Given the description of an element on the screen output the (x, y) to click on. 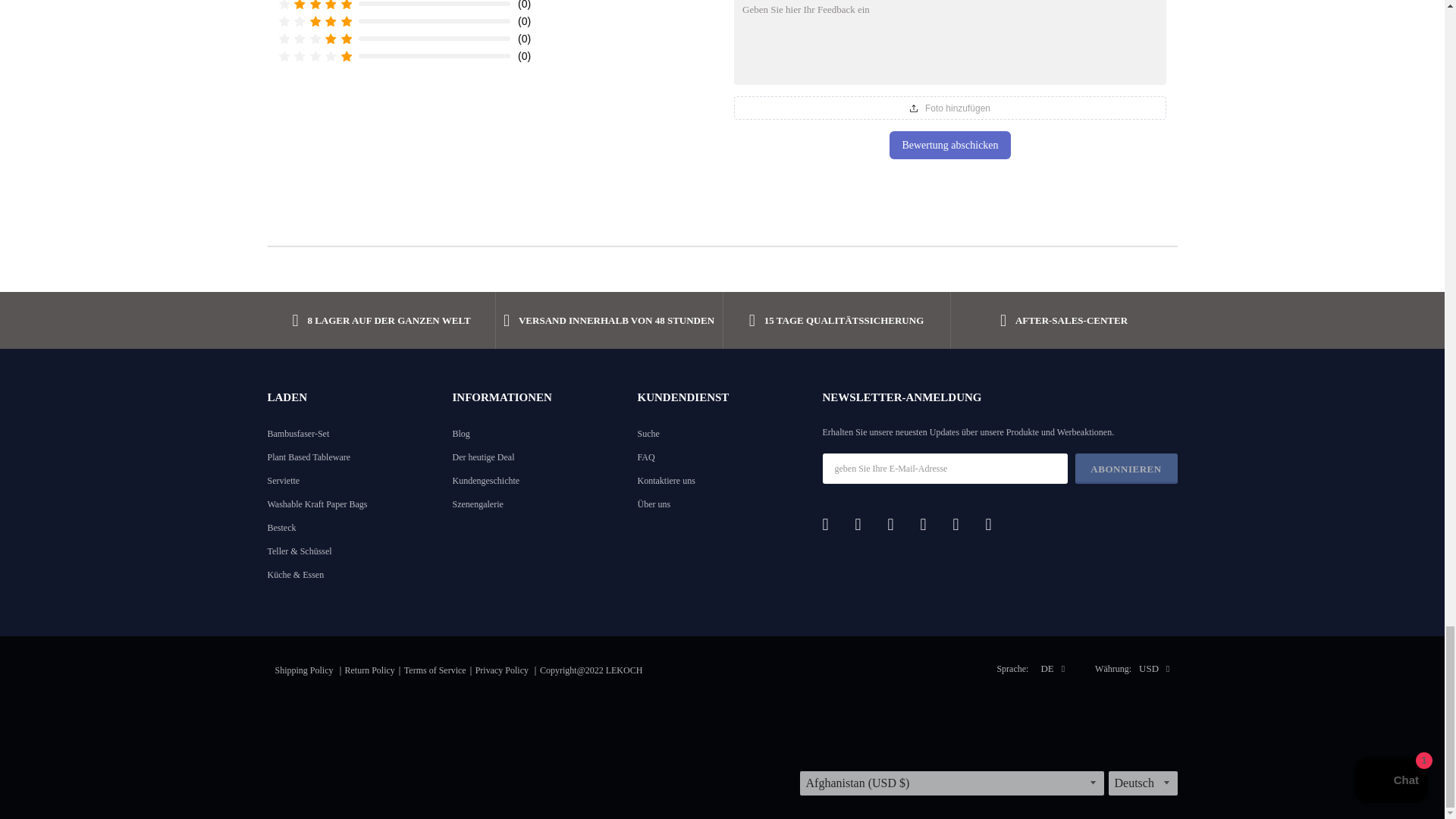
Facebook (833, 524)
Abonnieren (1126, 468)
Twitter (866, 524)
